Given the description of an element on the screen output the (x, y) to click on. 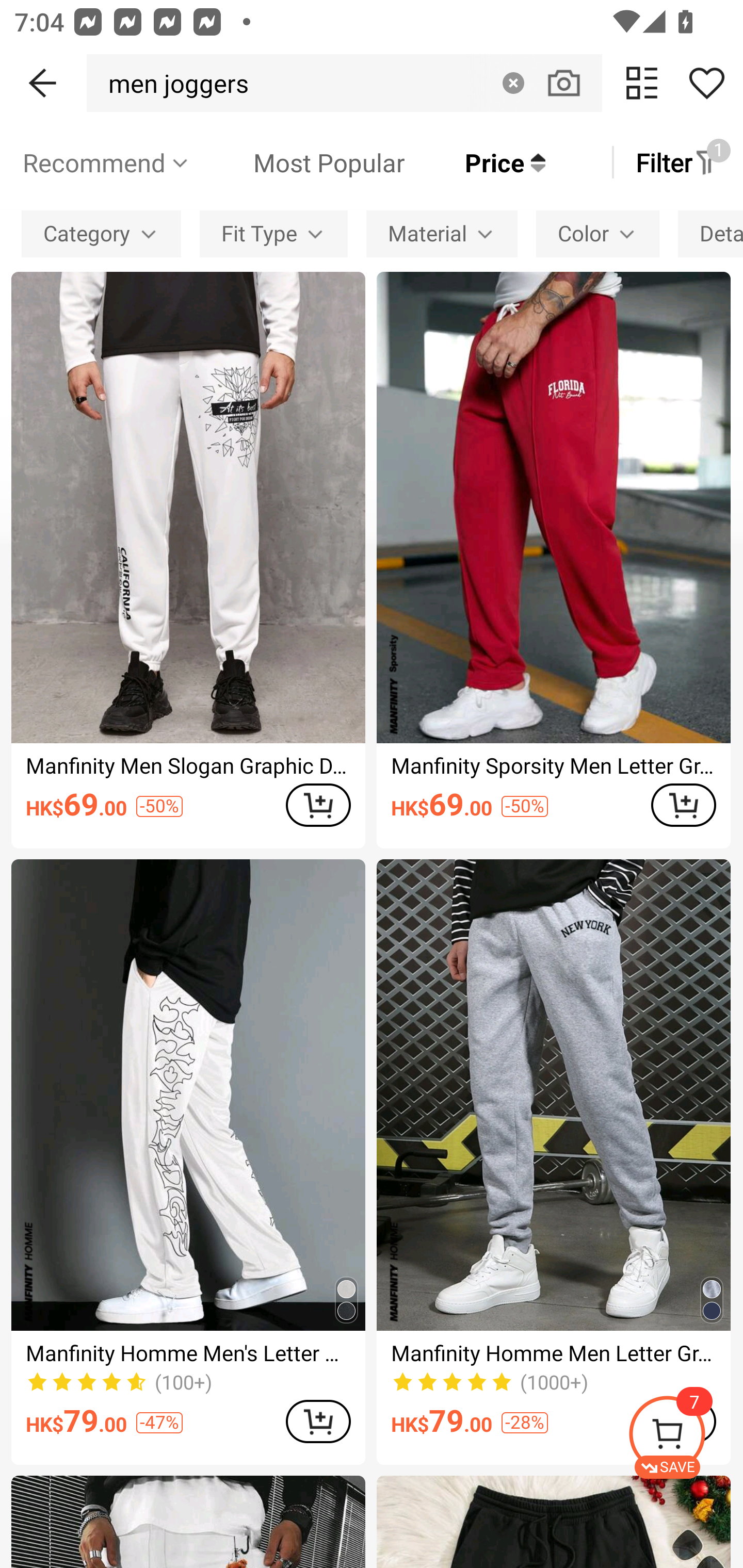
men joggers Clear (343, 82)
men joggers (172, 82)
Clear (513, 82)
change view (641, 82)
Share (706, 82)
Recommend (106, 162)
Most Popular (297, 162)
Price (474, 162)
Filter 1 (677, 162)
Category (101, 233)
Fit Type (273, 233)
Material (441, 233)
Color (597, 233)
ADD TO CART (318, 805)
ADD TO CART (683, 805)
SAVE (685, 1436)
ADD TO CART (318, 1421)
